Given the description of an element on the screen output the (x, y) to click on. 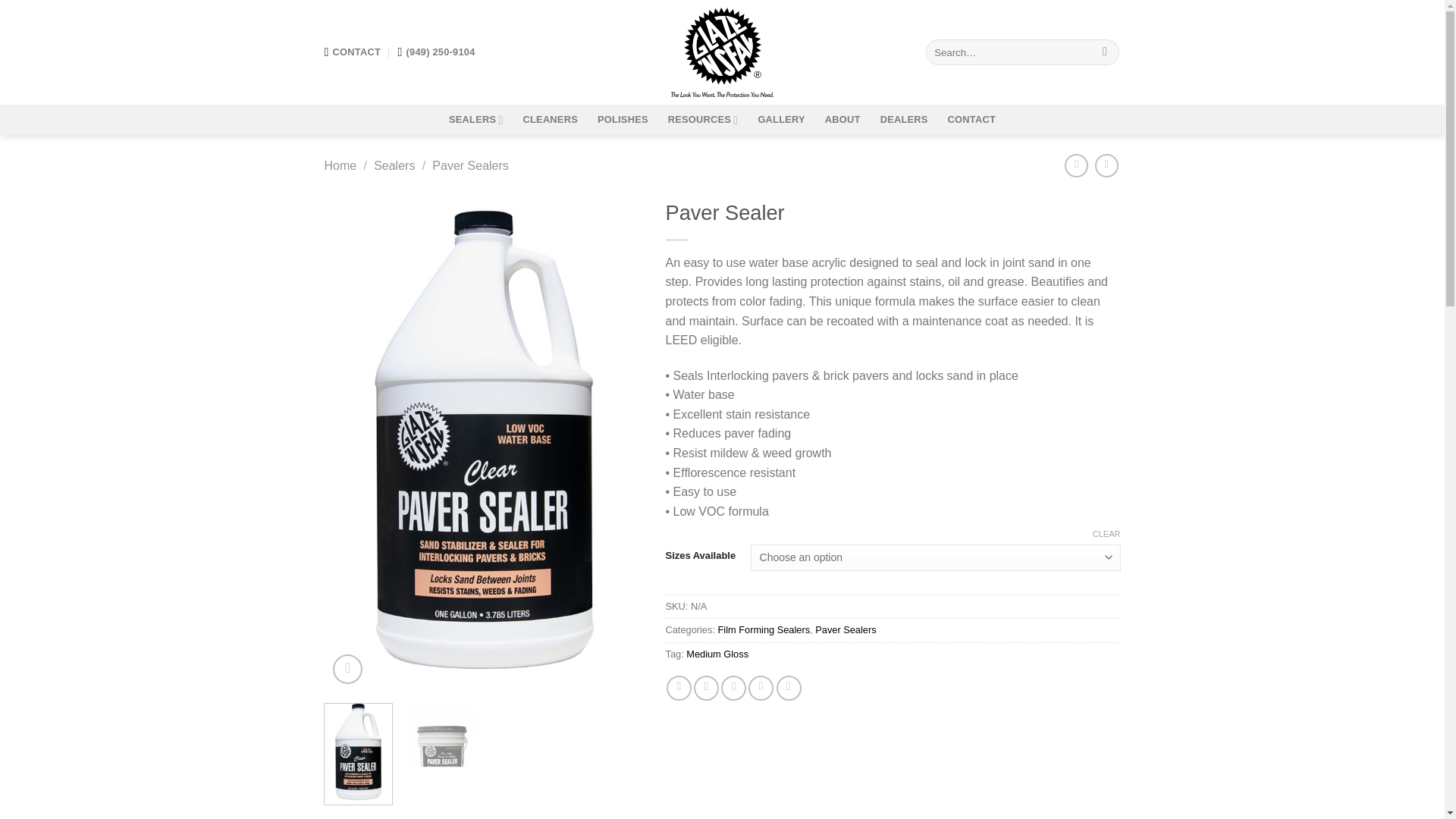
Zoom (347, 668)
Pin on Pinterest (760, 688)
CLEAR (1107, 533)
CONTACT (971, 119)
Paver Sealers (845, 629)
CONTACT (352, 52)
Film Forming Sealers (763, 629)
Home (340, 164)
Paver Sealers (470, 164)
DEALERS (904, 119)
Share on LinkedIn (789, 688)
Sealers (394, 164)
POLISHES (621, 119)
Search (1105, 52)
